Given the description of an element on the screen output the (x, y) to click on. 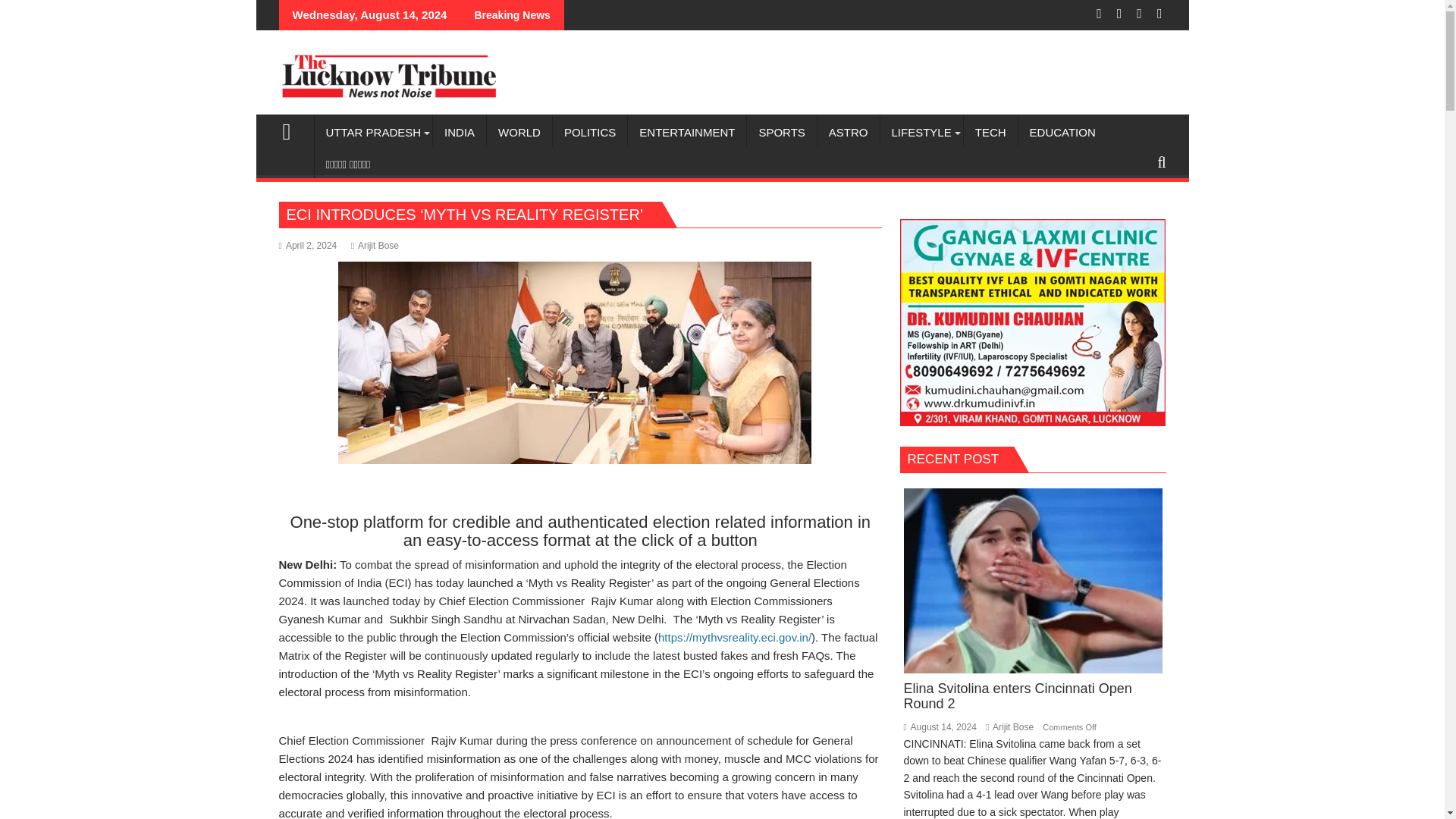
TECH (990, 132)
POLITICS (590, 132)
LIFESTYLE (921, 132)
ENTERTAINMENT (686, 132)
UTTAR PRADESH (373, 132)
Arijit Bose (374, 245)
ASTRO (847, 132)
WORLD (518, 132)
The Lucknow Tribune (293, 129)
EDUCATION (1061, 132)
